Given the description of an element on the screen output the (x, y) to click on. 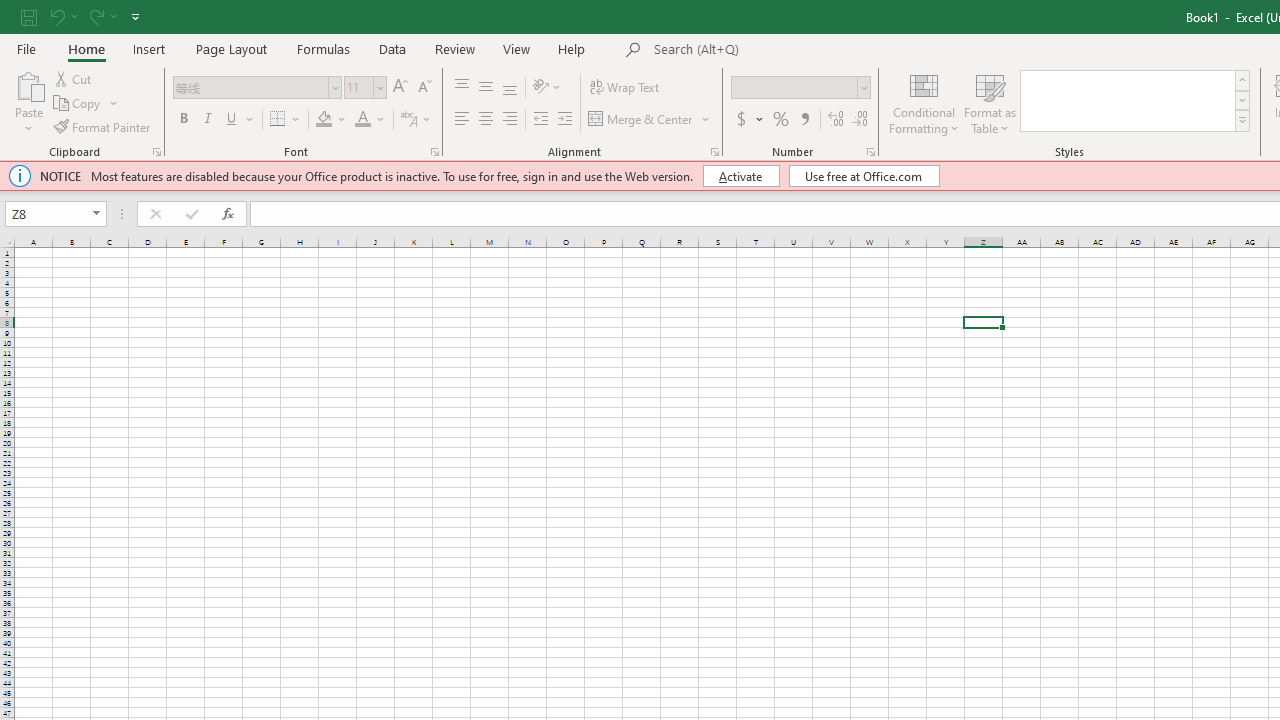
Font Color (362, 119)
Decrease Font Size (424, 87)
Cut (73, 78)
AutomationID: CellStylesGallery (1135, 100)
Fill Color (324, 119)
Italic (207, 119)
Borders (285, 119)
Use free at Office.com (863, 175)
Class: NetUIImage (1242, 120)
